Given the description of an element on the screen output the (x, y) to click on. 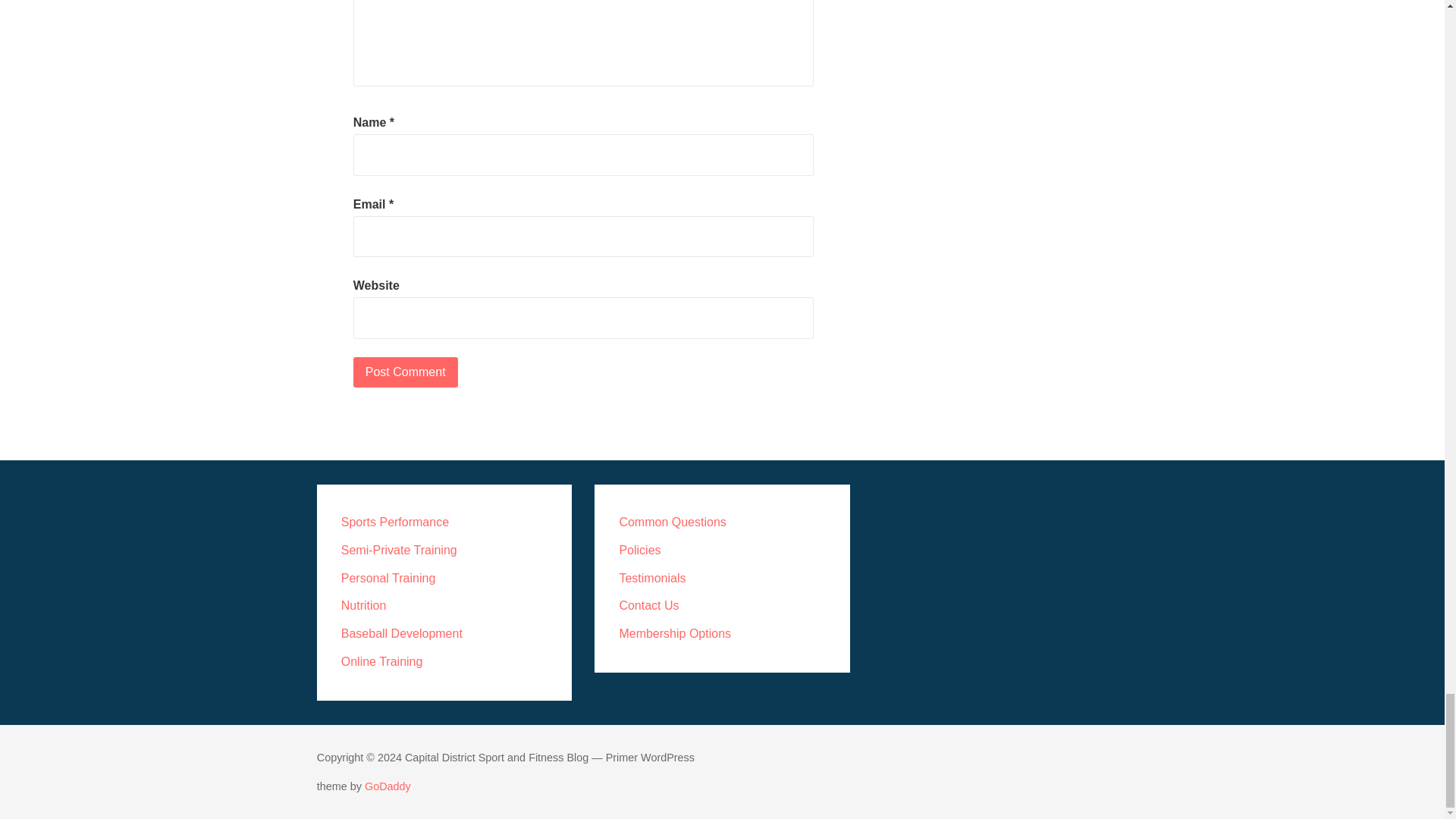
Post Comment (405, 372)
Post Comment (405, 372)
